Given the description of an element on the screen output the (x, y) to click on. 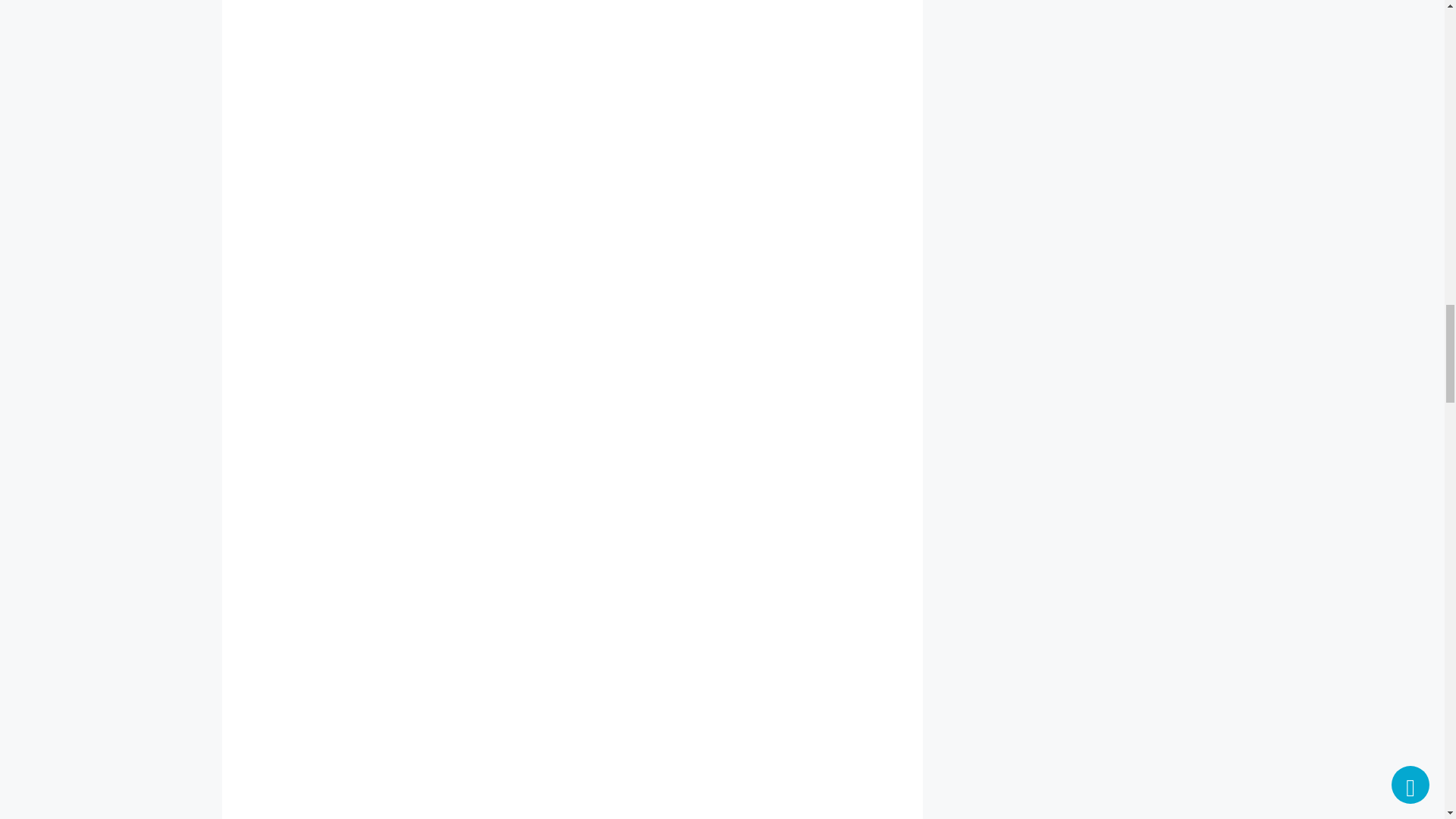
The BEST Keto Hot Fudge Sundae (478, 299)
